Given the description of an element on the screen output the (x, y) to click on. 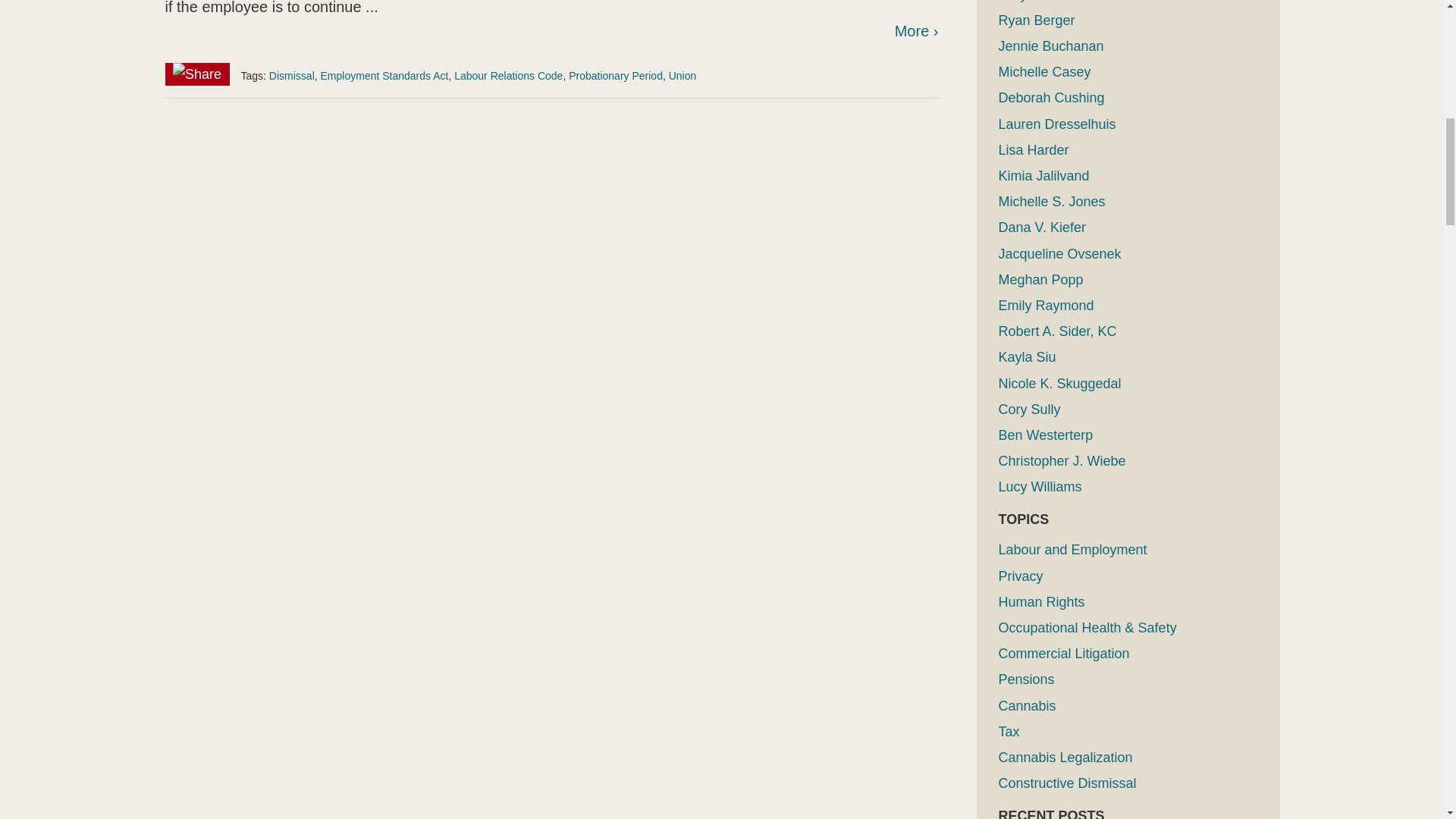
Probationary Period (615, 75)
Deborah Cushing (1050, 97)
Share (197, 74)
Labour Relations Code (508, 75)
Lisa Harder (1032, 150)
Jennie Buchanan (1050, 46)
Miny Atwal (1029, 1)
Lauren Dresselhuis (1056, 124)
Ryan Berger (1035, 20)
Michelle Casey (1043, 71)
